Given the description of an element on the screen output the (x, y) to click on. 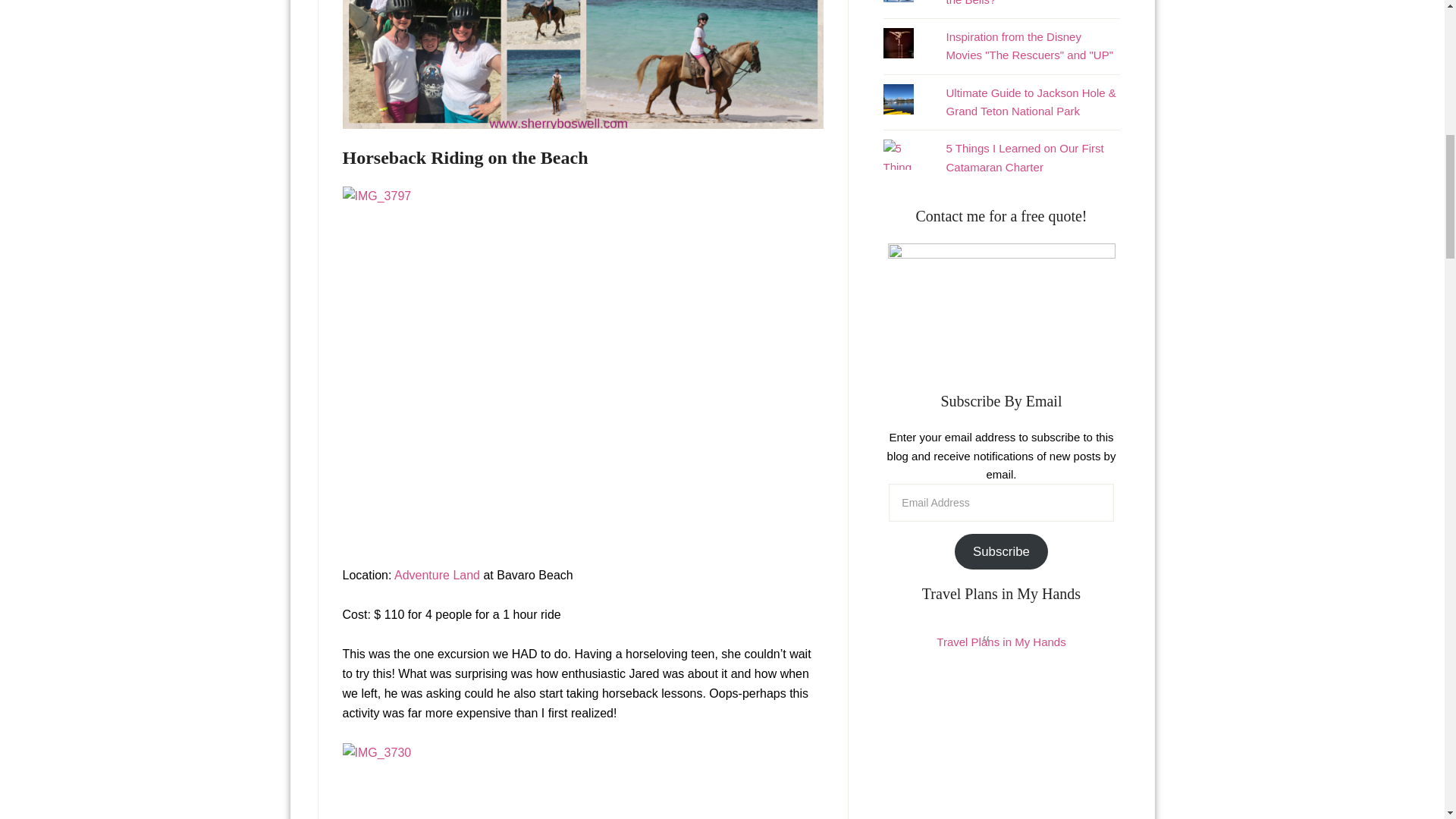
Adventure Land (437, 574)
The Polar Express: Do You Hear the Bells? (1026, 2)
Inspiration from the Disney Movies "The Rescuers" and "UP" (1028, 45)
5 Things I Learned on Our First Catamaran Charter (1023, 156)
